Given the description of an element on the screen output the (x, y) to click on. 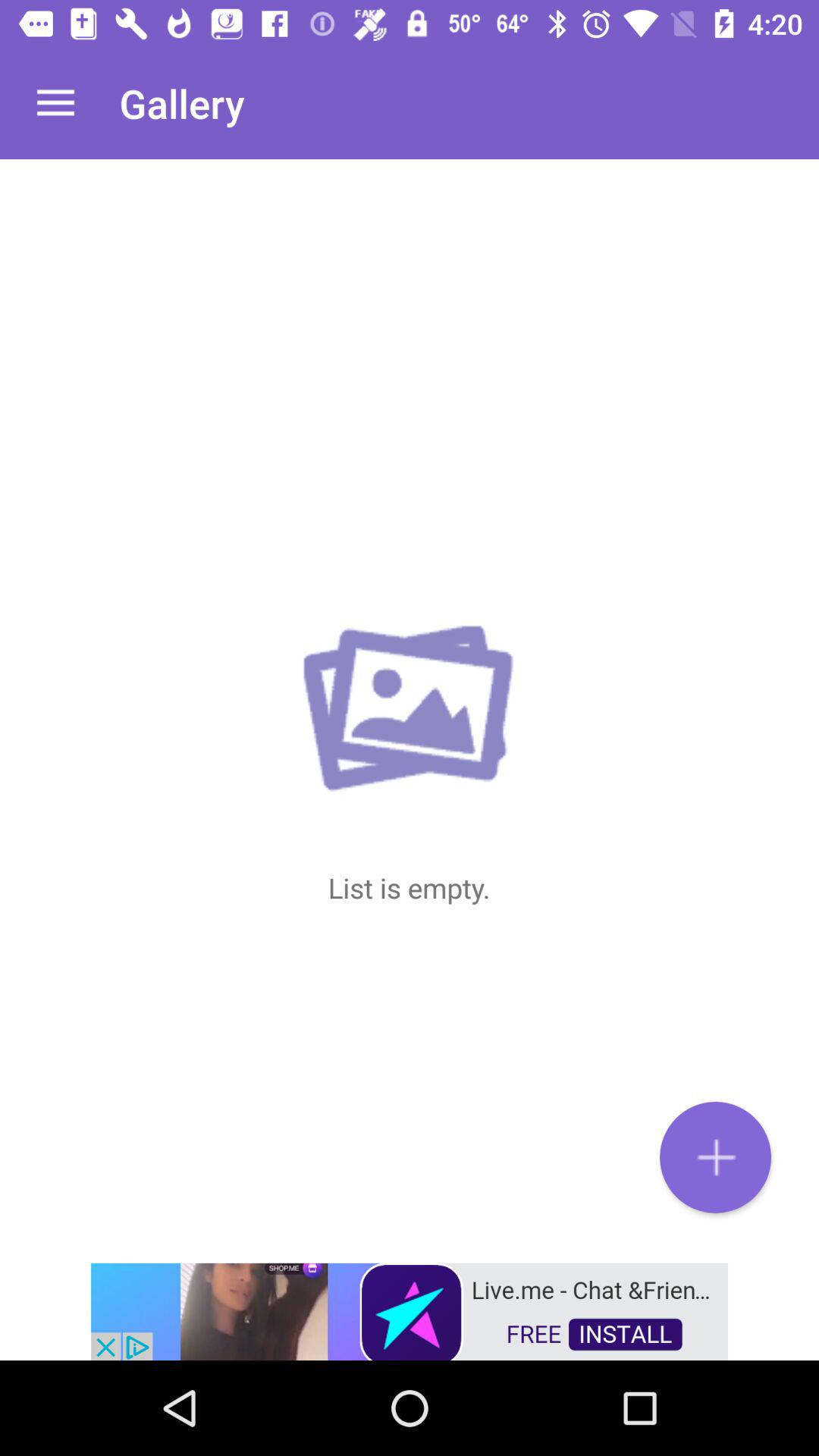
toggle to add option (715, 1157)
